Given the description of an element on the screen output the (x, y) to click on. 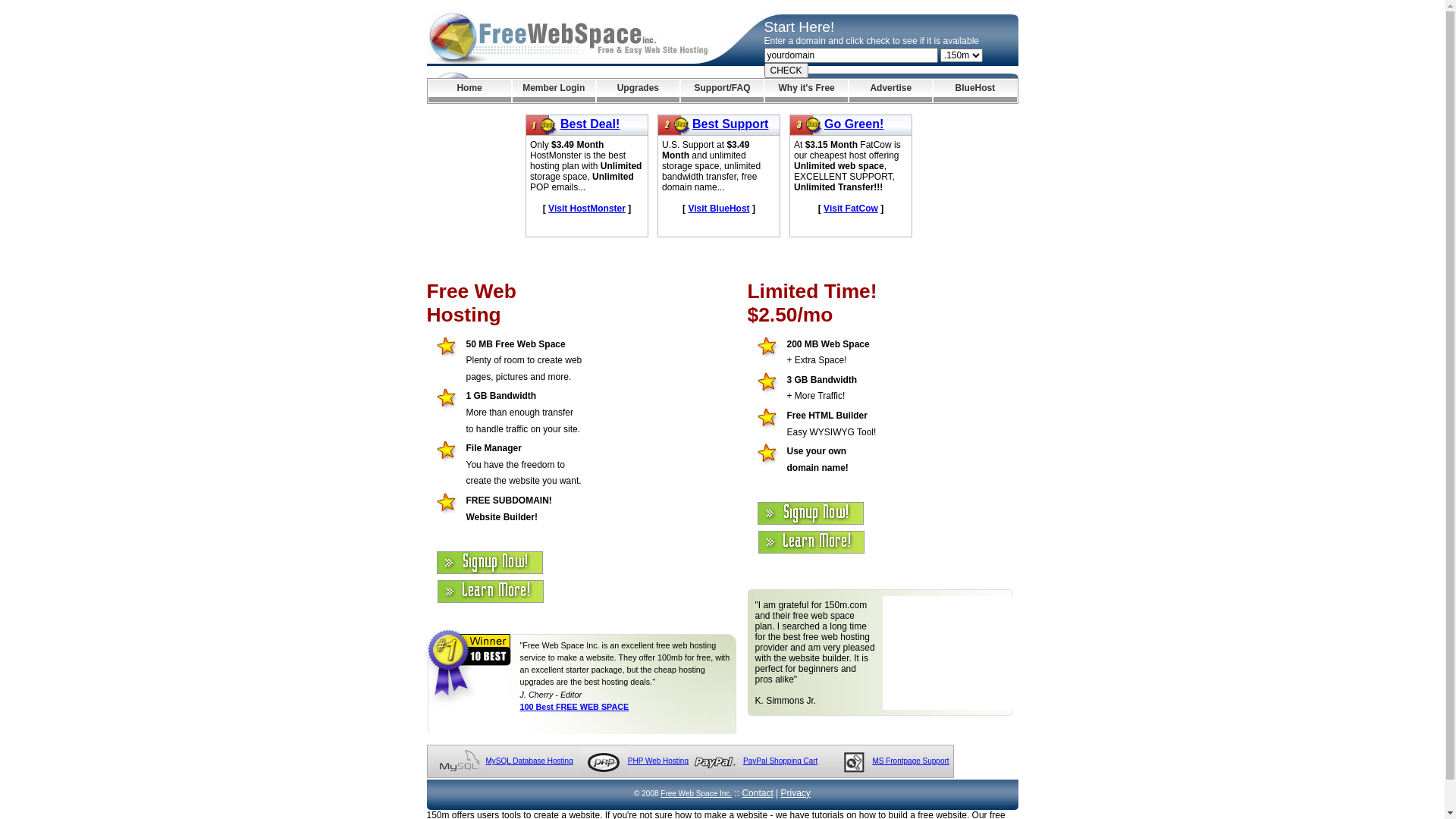
Contact Element type: text (756, 792)
BlueHost Element type: text (974, 90)
MySQL Database Hosting Element type: text (528, 760)
Advertise Element type: text (890, 90)
Free Web Space Inc. Element type: text (695, 793)
Home Element type: text (468, 90)
Why it's Free Element type: text (806, 90)
Member Login Element type: text (553, 90)
100 Best FREE WEB SPACE Element type: text (574, 706)
CHECK Element type: text (786, 70)
Upgrades Element type: text (637, 90)
PayPal Shopping Cart Element type: text (780, 760)
PHP Web Hosting Element type: text (657, 760)
Support/FAQ Element type: text (721, 90)
Privacy Element type: text (795, 792)
MS Frontpage Support Element type: text (910, 760)
